Given the description of an element on the screen output the (x, y) to click on. 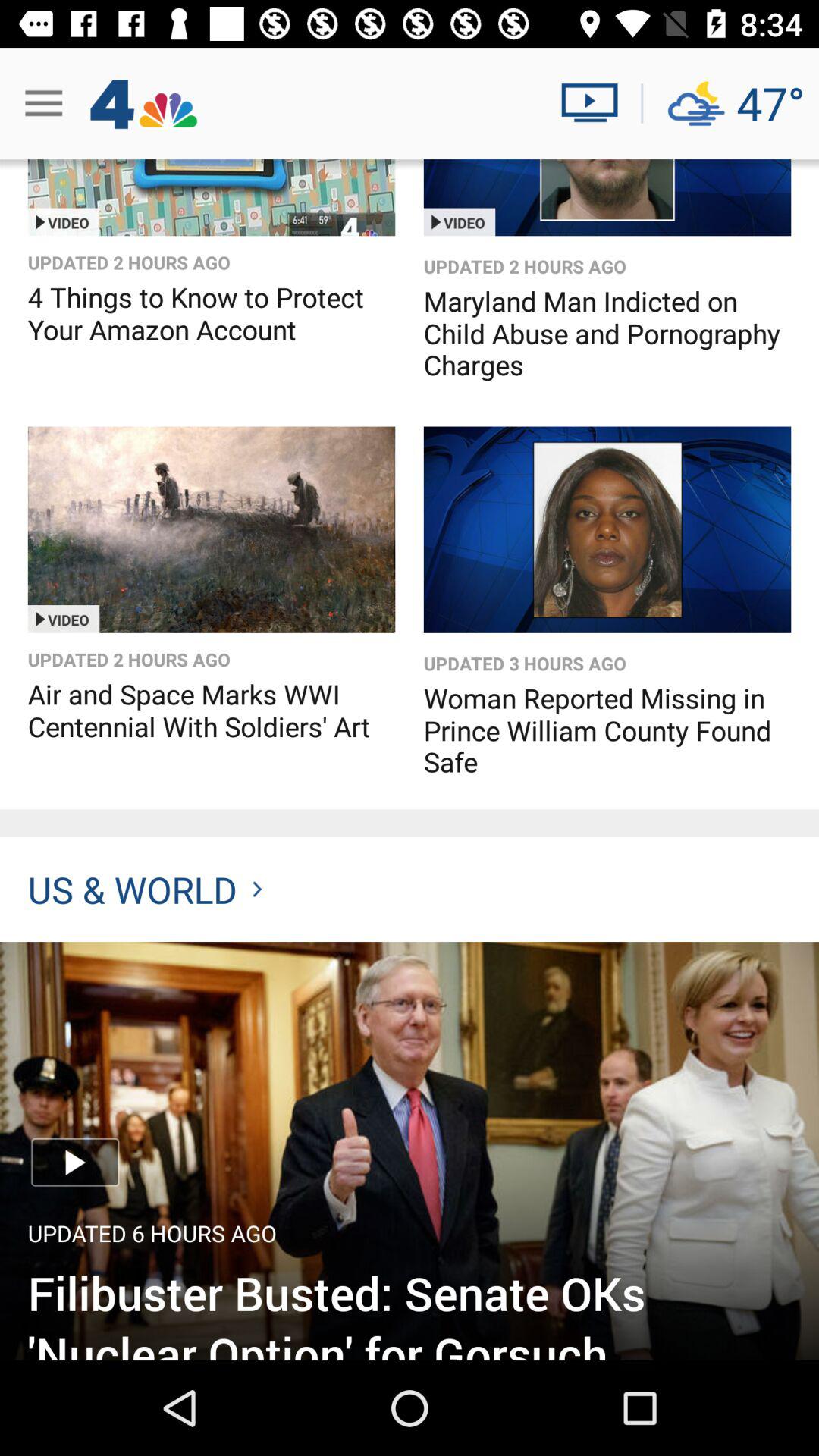
open article (409, 1150)
